Given the description of an element on the screen output the (x, y) to click on. 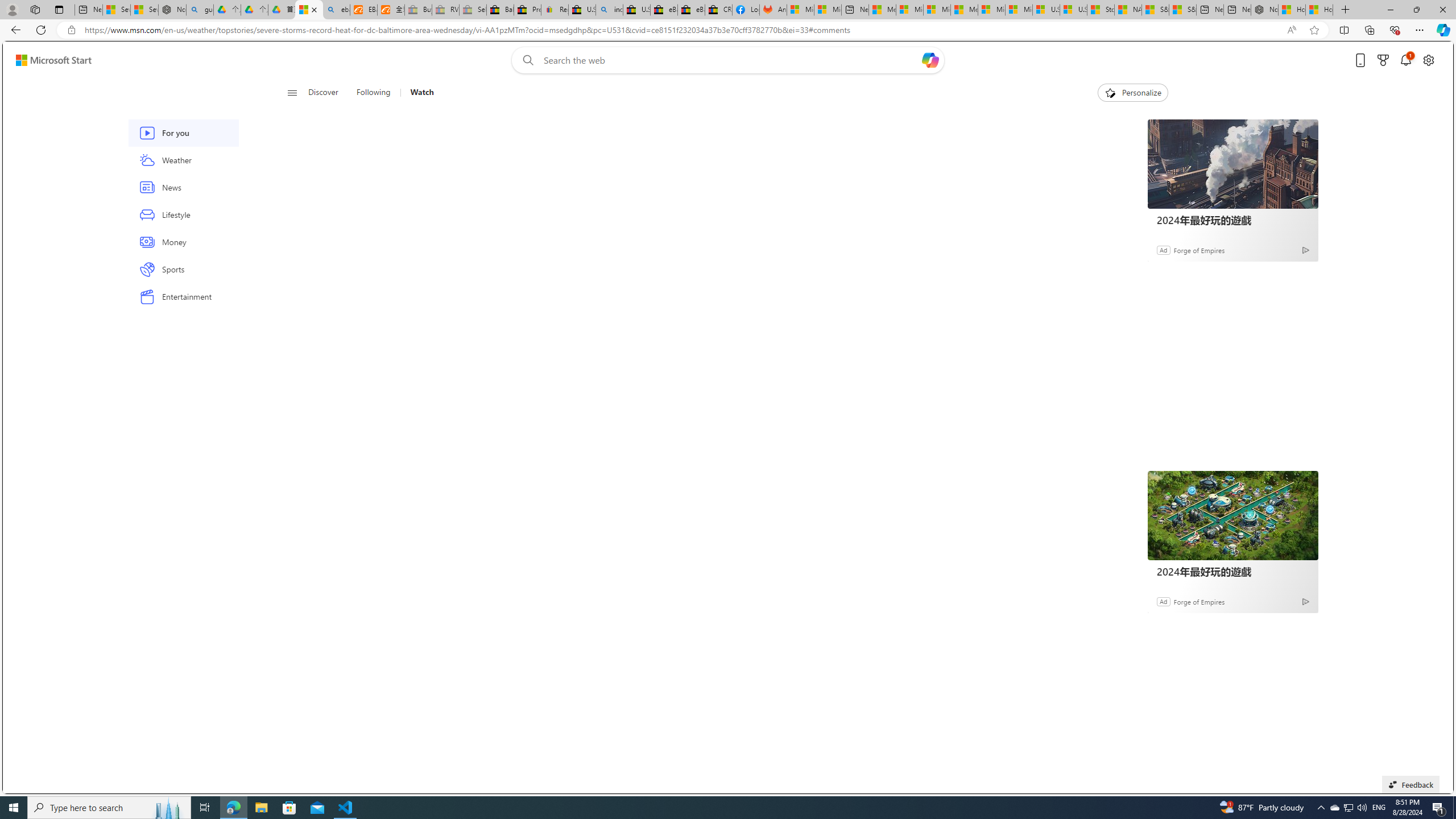
guge yunpan - Search (200, 9)
